Given the description of an element on the screen output the (x, y) to click on. 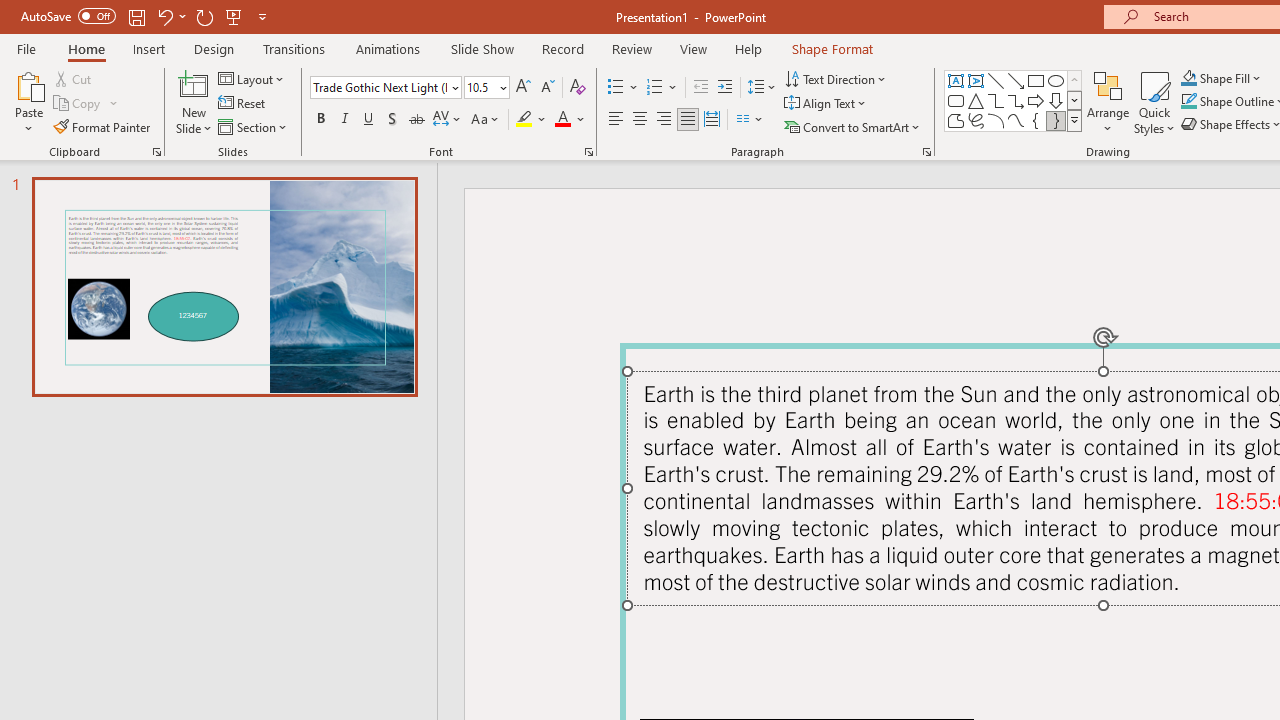
Oval (1055, 80)
Align Left (616, 119)
Text Direction (836, 78)
Freeform: Scribble (975, 120)
Character Spacing (447, 119)
Quick Styles (1154, 102)
Connector: Elbow Arrow (1016, 100)
Line (995, 80)
Text Highlight Color Yellow (524, 119)
